Given the description of an element on the screen output the (x, y) to click on. 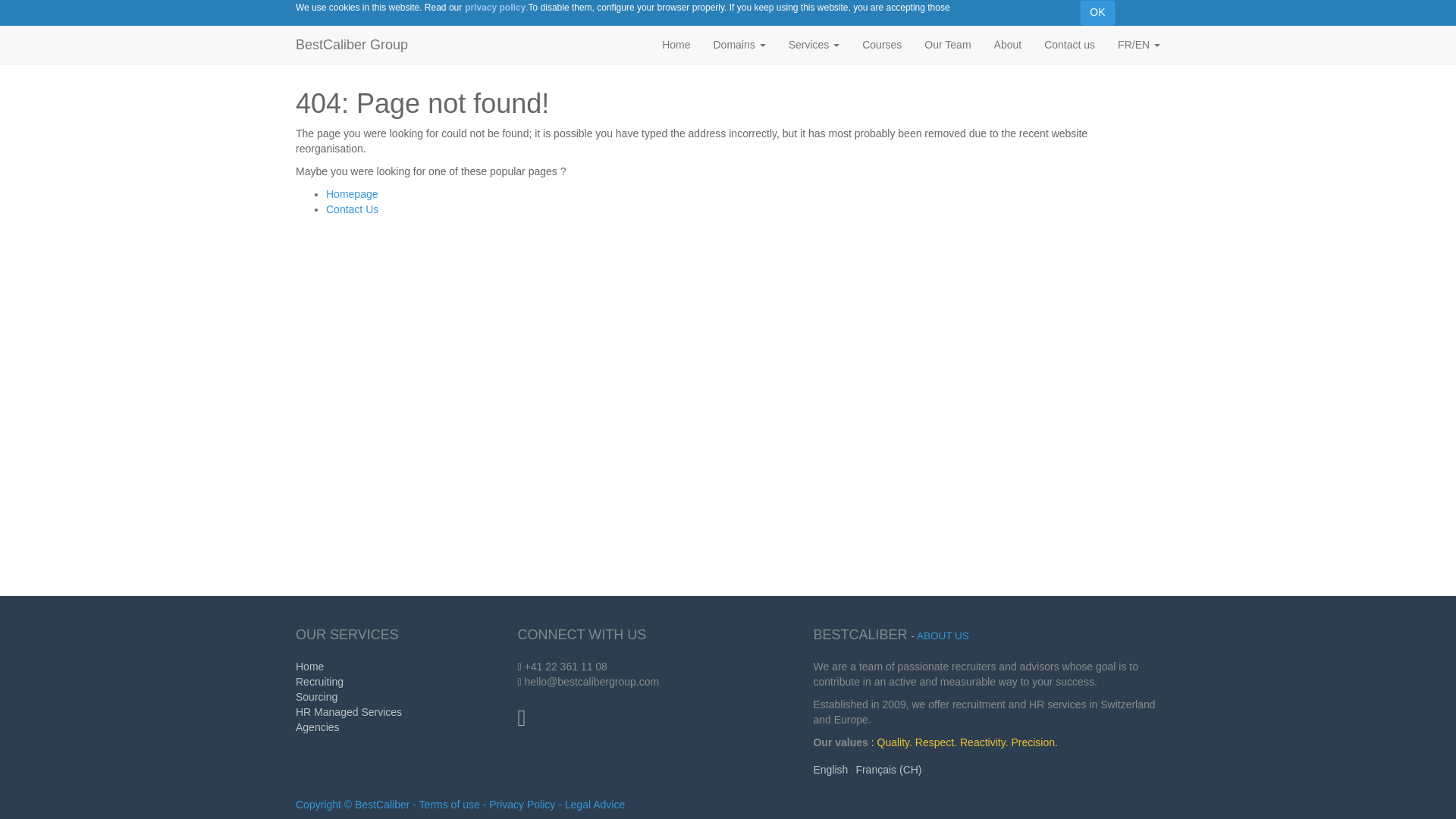
Services (814, 44)
ABOUT US (943, 635)
Agencies (317, 727)
Recruiting (319, 681)
Contact Us (352, 209)
Courses (881, 44)
Our Team (946, 44)
BestCaliber Group (351, 44)
Contact us (1069, 44)
privacy polic (491, 6)
